Given the description of an element on the screen output the (x, y) to click on. 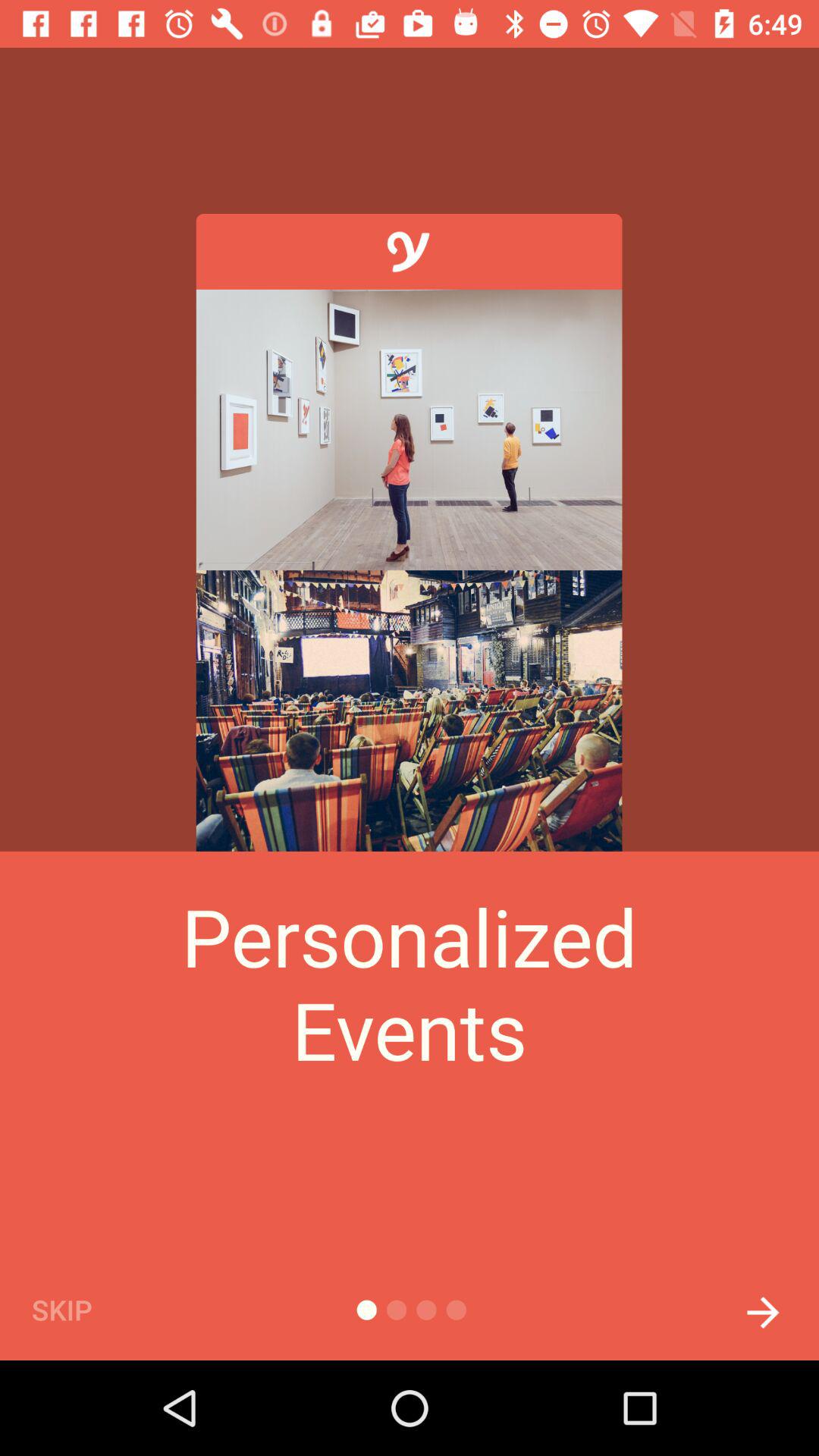
swipe to skip item (87, 1309)
